Given the description of an element on the screen output the (x, y) to click on. 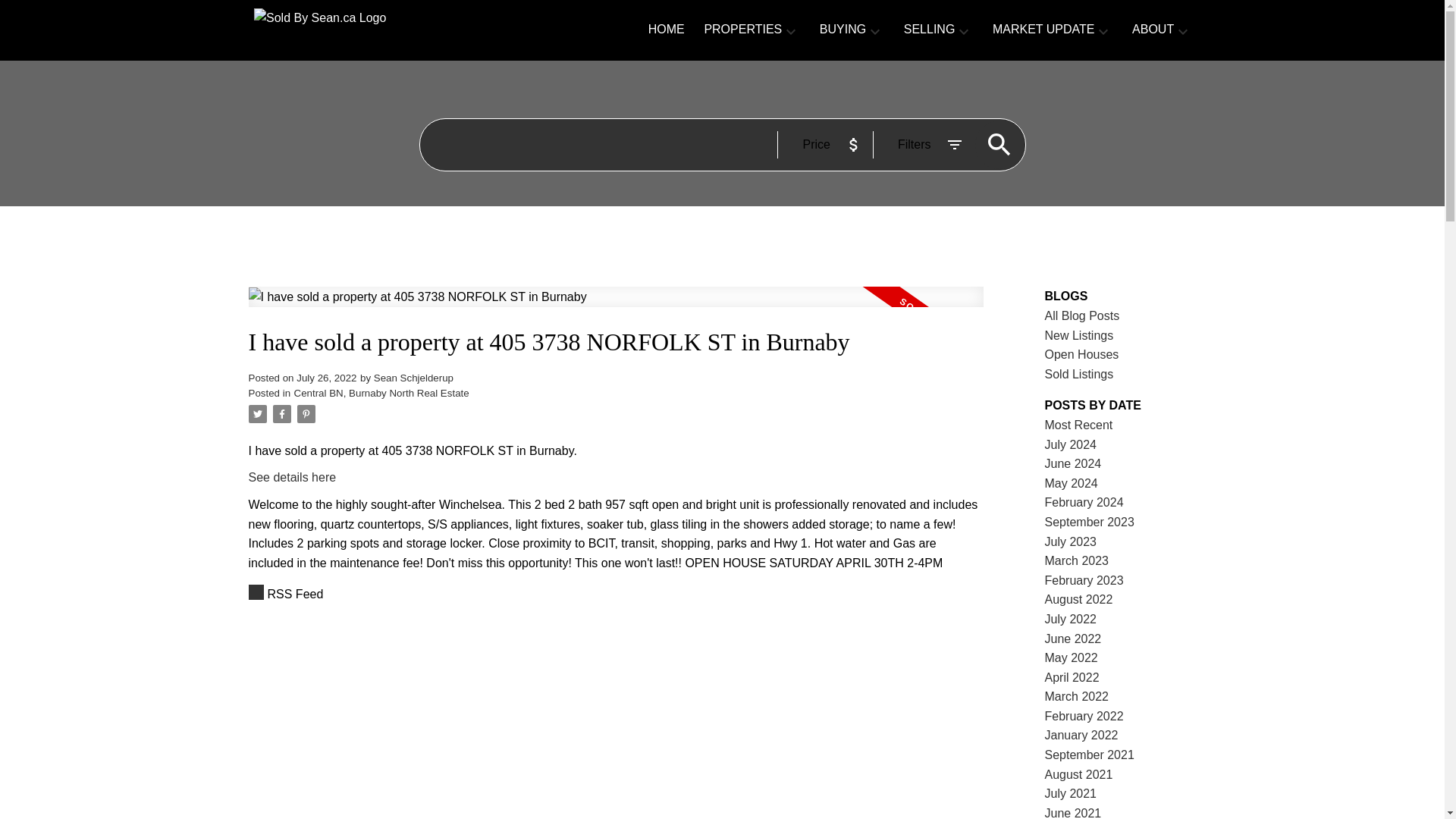
September 2023 (1089, 521)
Sold Listings (1079, 373)
ABOUT (1152, 30)
New Listings (1079, 335)
PROPERTIES (742, 30)
BUYING (842, 30)
RSS (616, 594)
June 2024 (1073, 463)
See details here (292, 477)
July 2024 (1071, 444)
SELLING (929, 30)
All Blog Posts (1082, 315)
Most Recent (1079, 424)
February 2024 (1084, 502)
Central BN, Burnaby North Real Estate (381, 392)
